Given the description of an element on the screen output the (x, y) to click on. 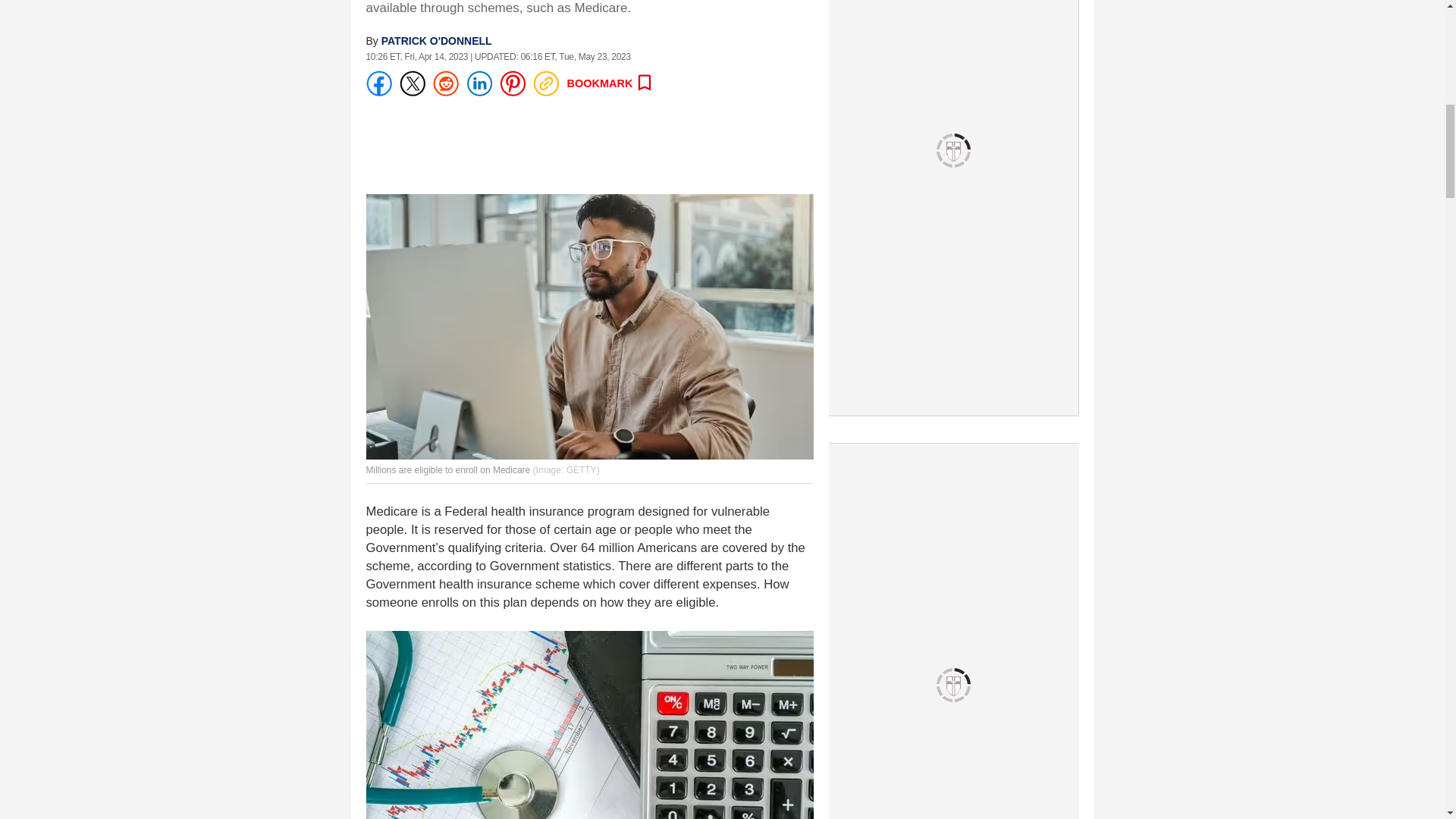
Medicare form (588, 724)
Share on Facebook (378, 83)
Copy link (544, 83)
Man on laptop (588, 326)
Share on Pinterest (511, 83)
PATRICK O'DONNELL (436, 40)
Share on Reddit (445, 83)
Share on Twitter (411, 83)
Share on LinkedIn (478, 83)
